Given the description of an element on the screen output the (x, y) to click on. 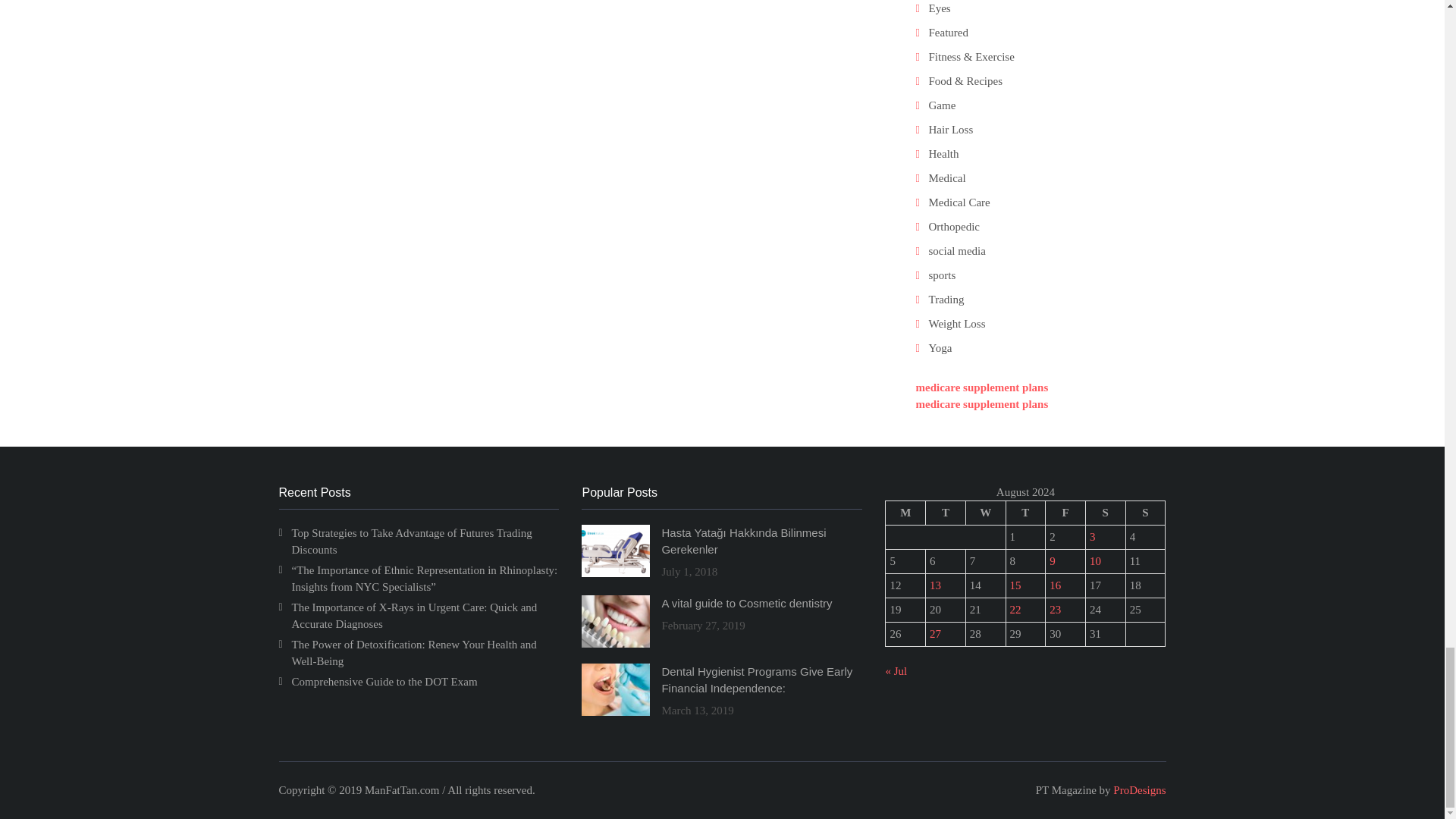
Tuesday (946, 512)
Wednesday (985, 512)
Saturday (1104, 512)
Sunday (1145, 512)
Thursday (1025, 512)
Friday (1065, 512)
Monday (905, 512)
